Given the description of an element on the screen output the (x, y) to click on. 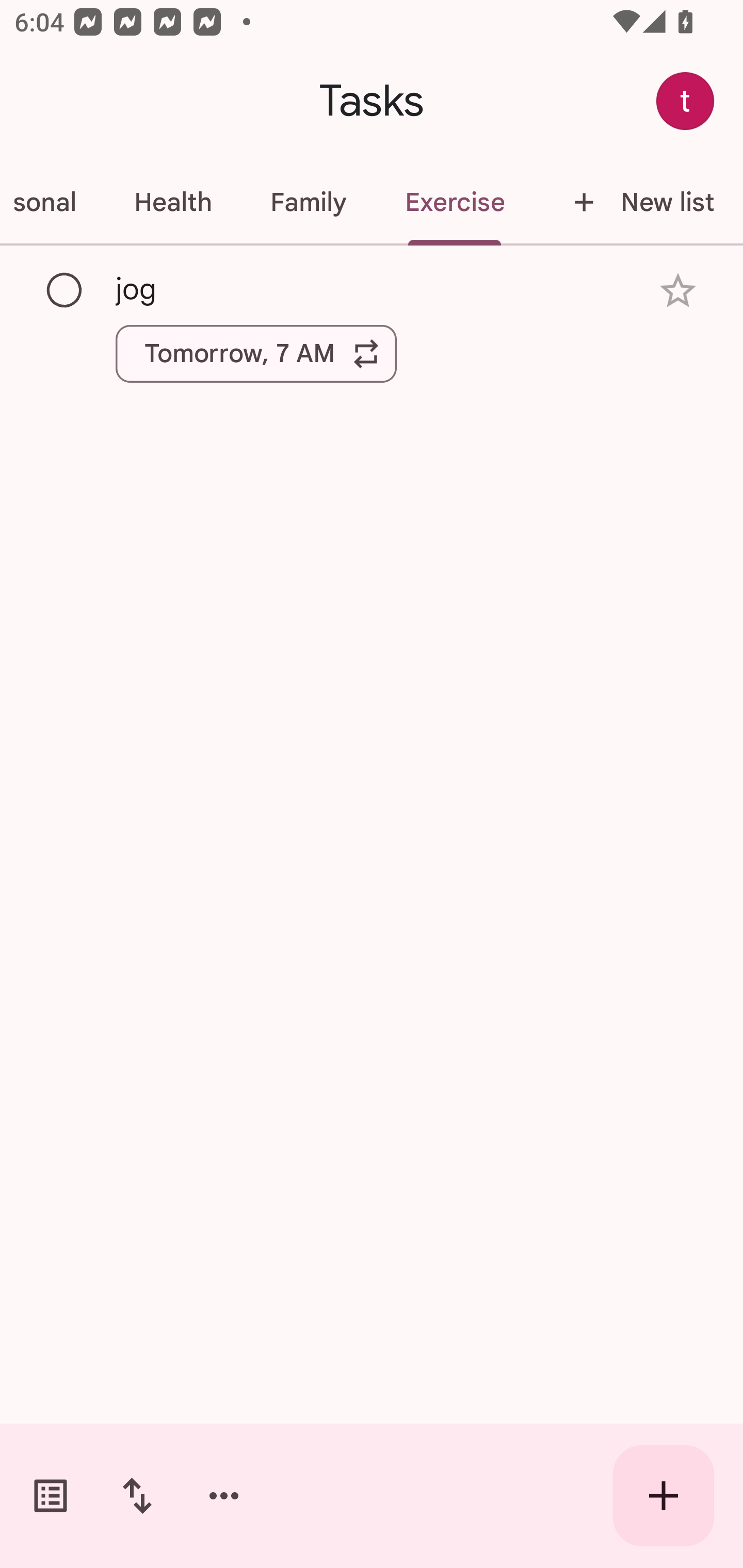
personal (52, 202)
Health (172, 202)
Family (307, 202)
New list (638, 202)
Add star (677, 290)
Mark as complete (64, 290)
Tomorrow, 7 AM (255, 353)
Switch task lists (50, 1495)
Create new task (663, 1495)
Change sort order (136, 1495)
More options (223, 1495)
